Given the description of an element on the screen output the (x, y) to click on. 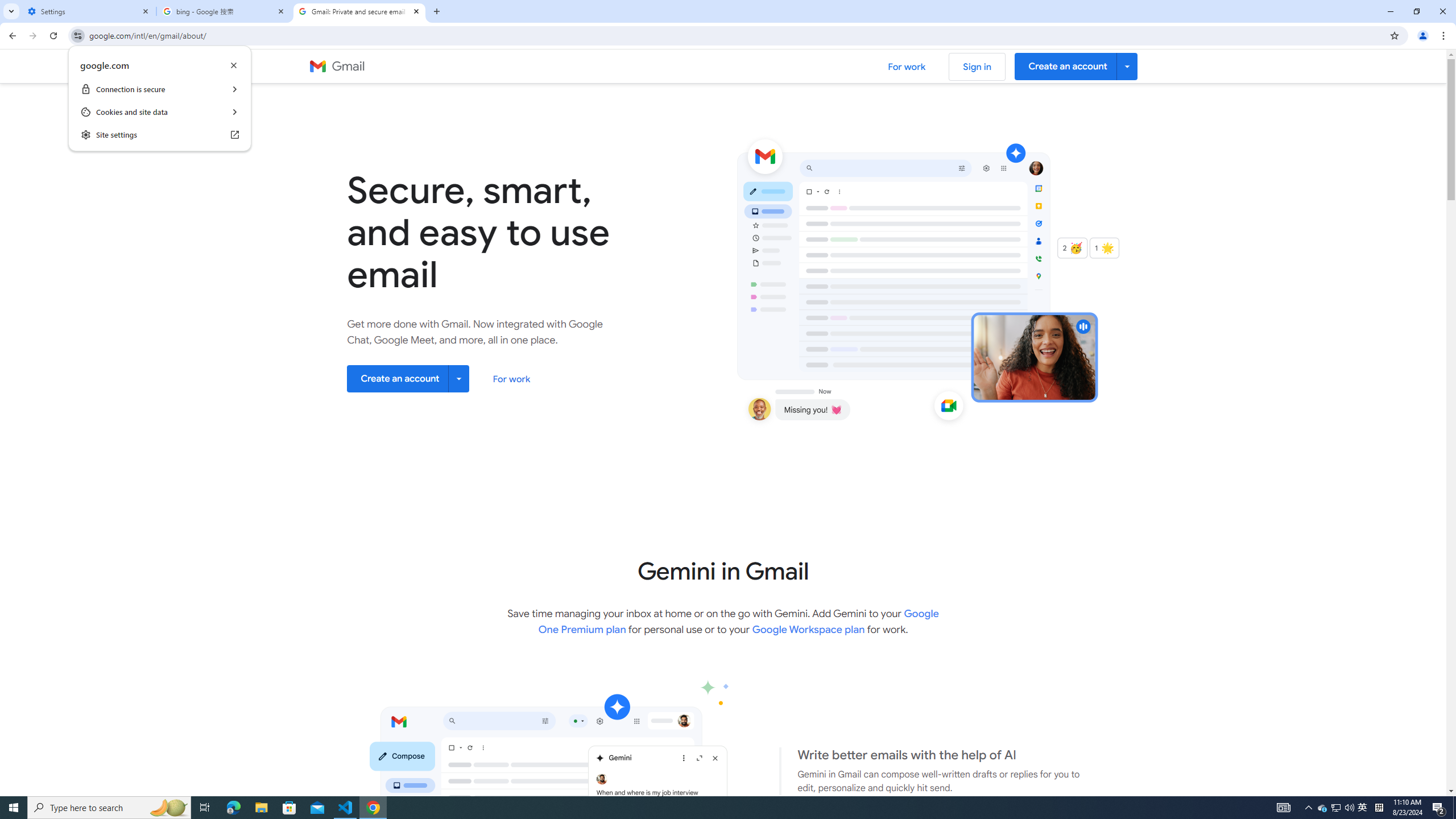
Cookies and site data  (159, 111)
For work (511, 378)
Gmail inbox screen with enlarged function icons (972, 280)
Running applications (700, 807)
Microsoft Store (289, 807)
Search highlights icon opens search home window (167, 807)
Microsoft Edge (233, 807)
Site settings  (1335, 807)
